Given the description of an element on the screen output the (x, y) to click on. 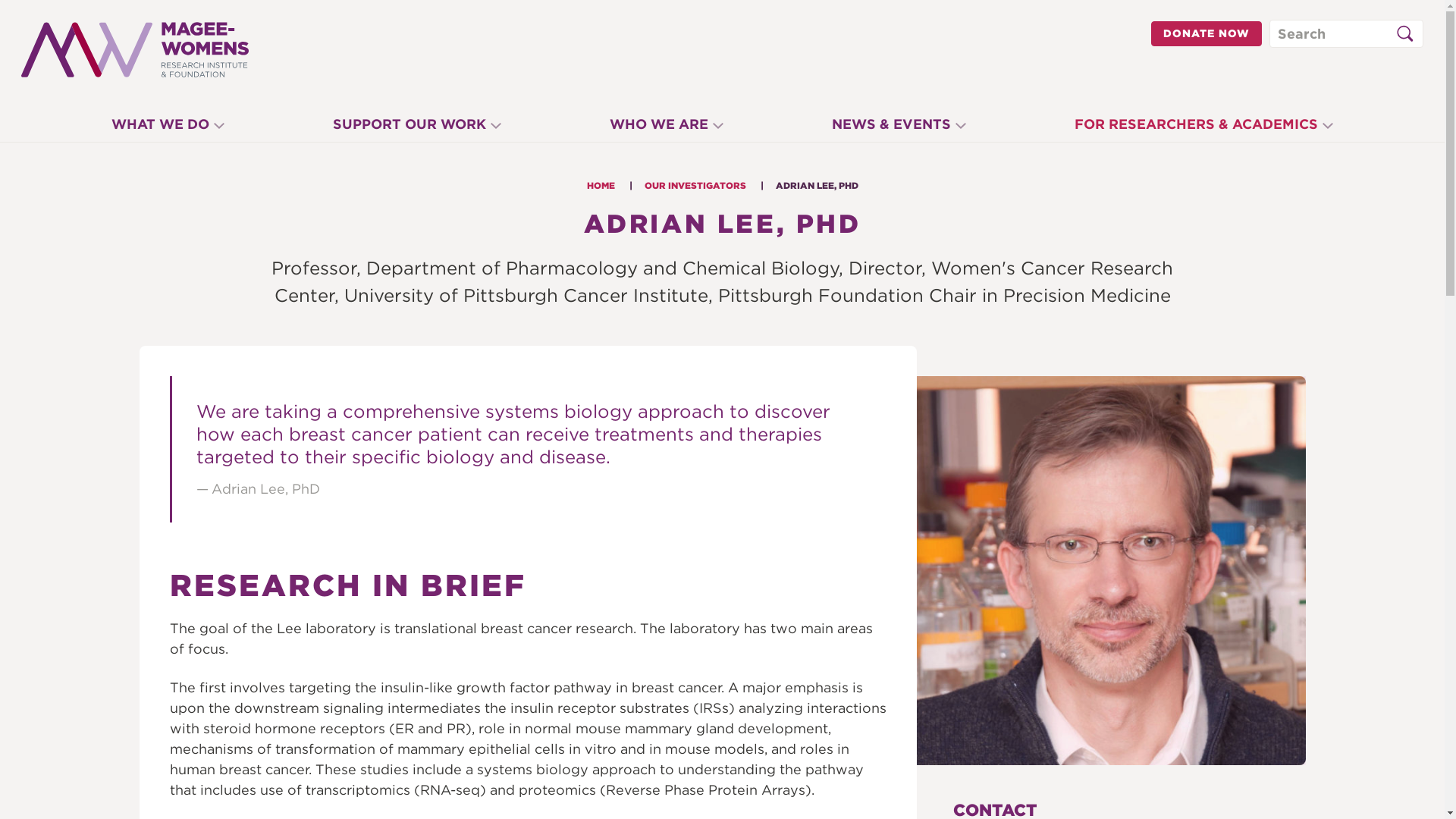
SUPPORT OUR WORK (416, 127)
DONATE NOW (1206, 33)
WHAT WE DO (168, 127)
Search (1408, 37)
WHO WE ARE (666, 127)
Search (1404, 34)
